Given the description of an element on the screen output the (x, y) to click on. 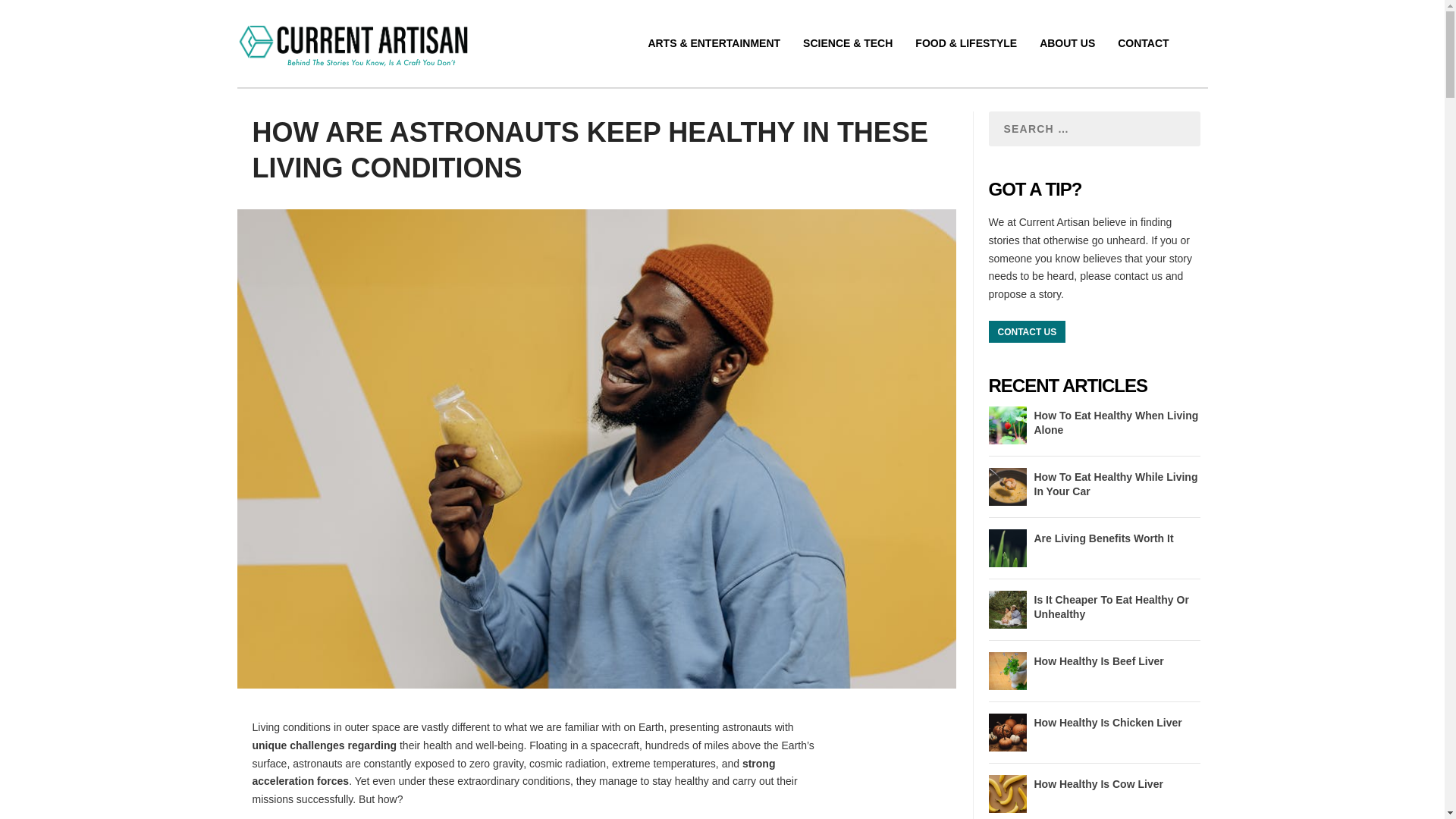
ABOUT US (1066, 61)
Search (227, 12)
How To Eat Healthy When Living Alone (1116, 422)
CONTACT (1143, 61)
CONTACT US (1026, 332)
